Given the description of an element on the screen output the (x, y) to click on. 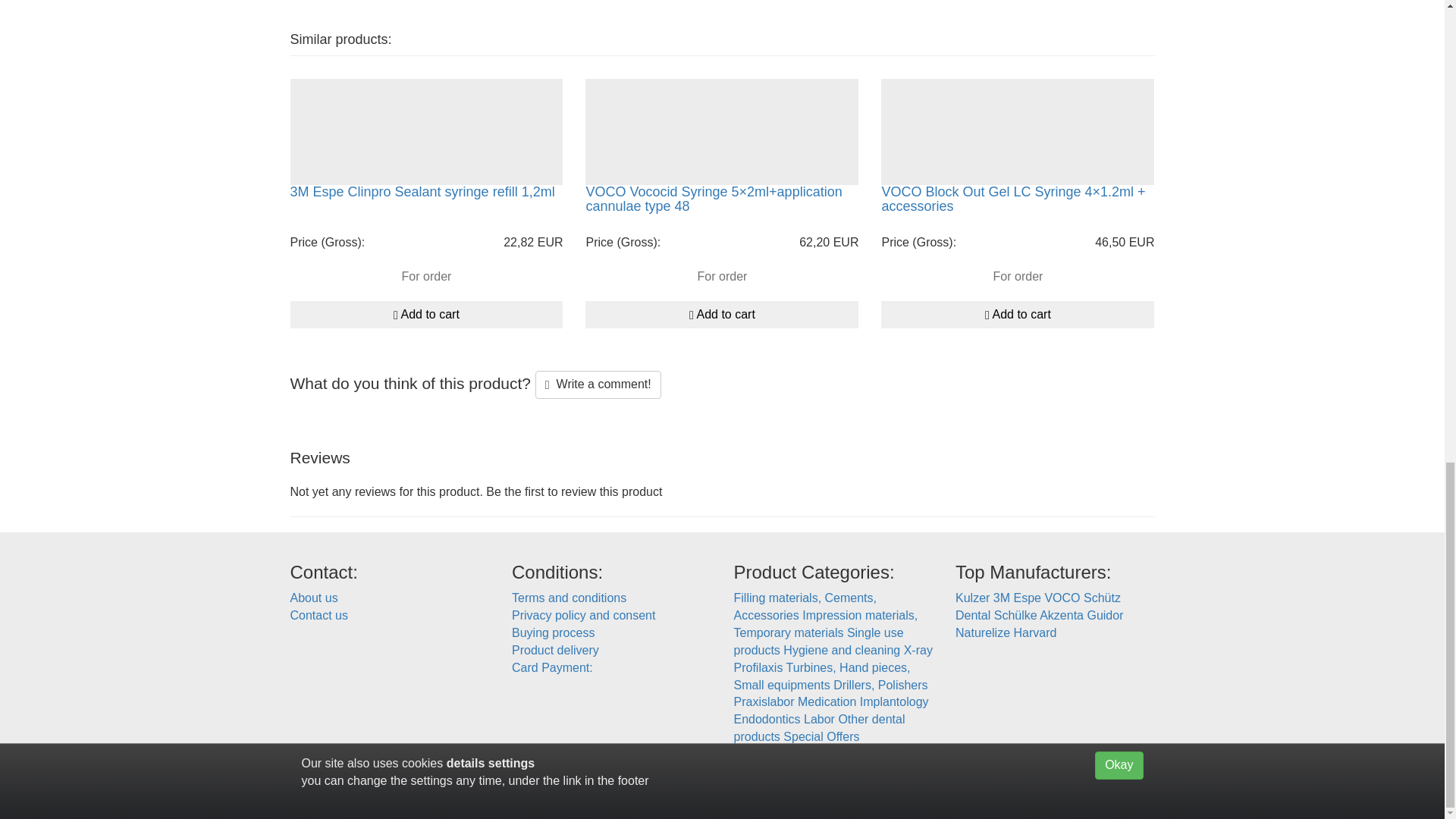
Profilaxis (758, 667)
Product delivery (555, 649)
Drillers, Polishers (879, 684)
Filling materials, Cements, Accessories (805, 606)
  Write a comment! (598, 384)
Buying process (553, 632)
Privacy policy and consent (583, 615)
Contact us (318, 615)
3M Espe Clinpro Sealant syringe refill 1,2ml (421, 191)
Card Payment: (611, 680)
Single use products (818, 641)
Impression materials, Temporary materials (825, 624)
Turbines, Hand pieces, Small equipments (822, 675)
About us (313, 597)
Praxislabor (763, 701)
